Given the description of an element on the screen output the (x, y) to click on. 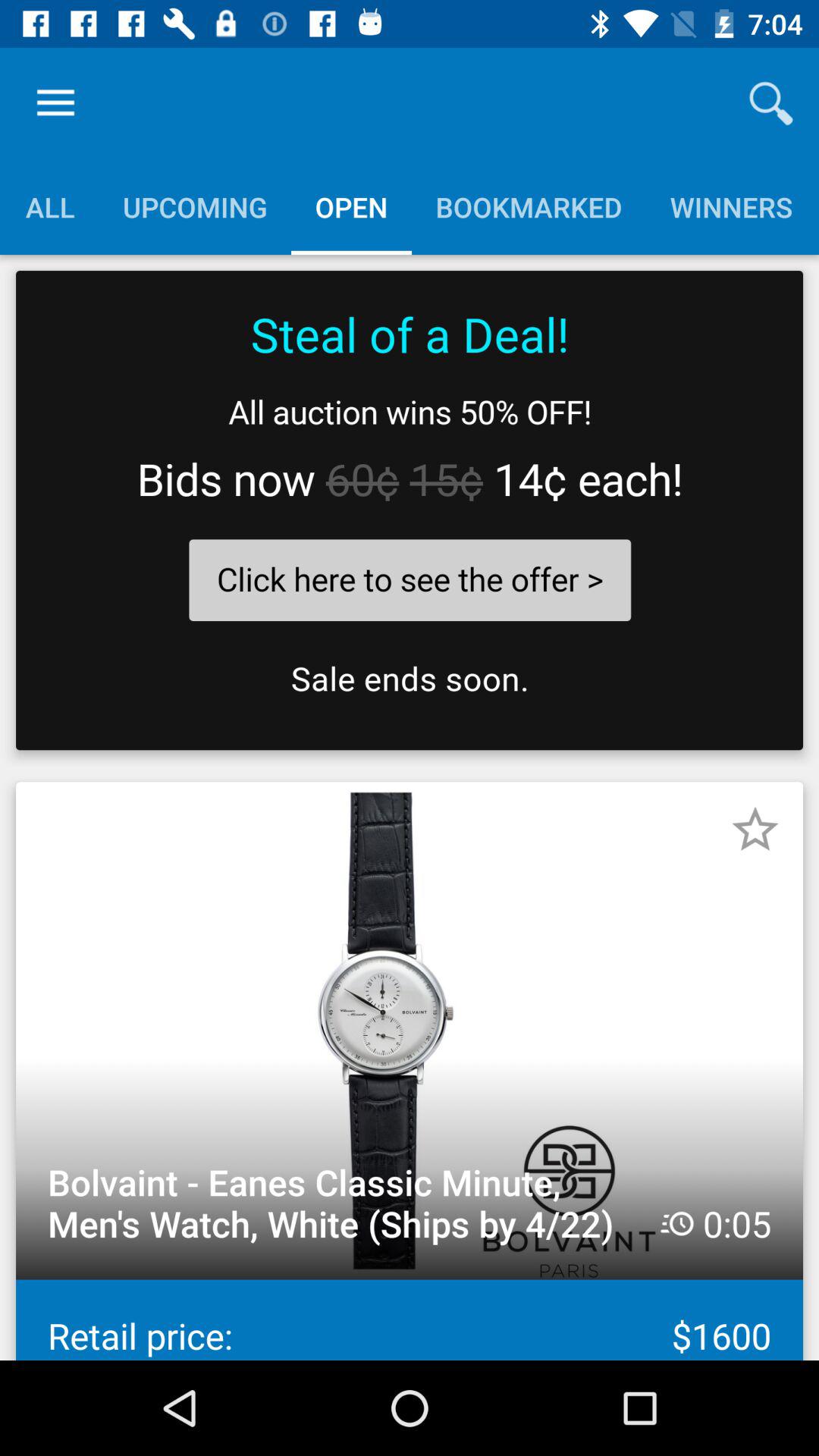
select as favorite (755, 829)
